Given the description of an element on the screen output the (x, y) to click on. 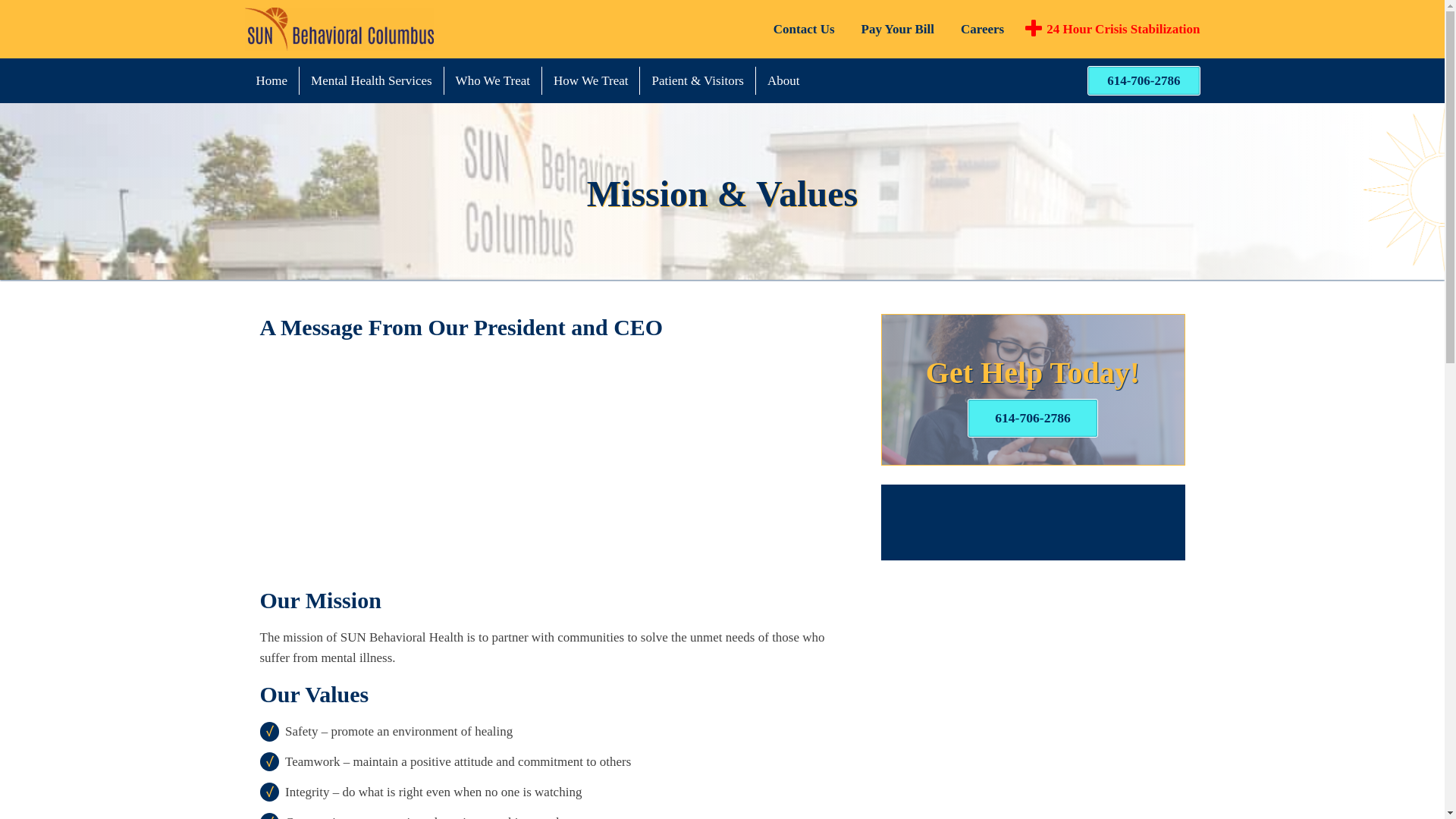
Contact Us (804, 28)
Careers (982, 28)
Home (271, 80)
Who We Treat (492, 80)
24 Hour Crisis Stabilization (1111, 28)
Pay Your Bill (897, 28)
Mental Health Services (371, 80)
How We Treat (590, 80)
